Given the description of an element on the screen output the (x, y) to click on. 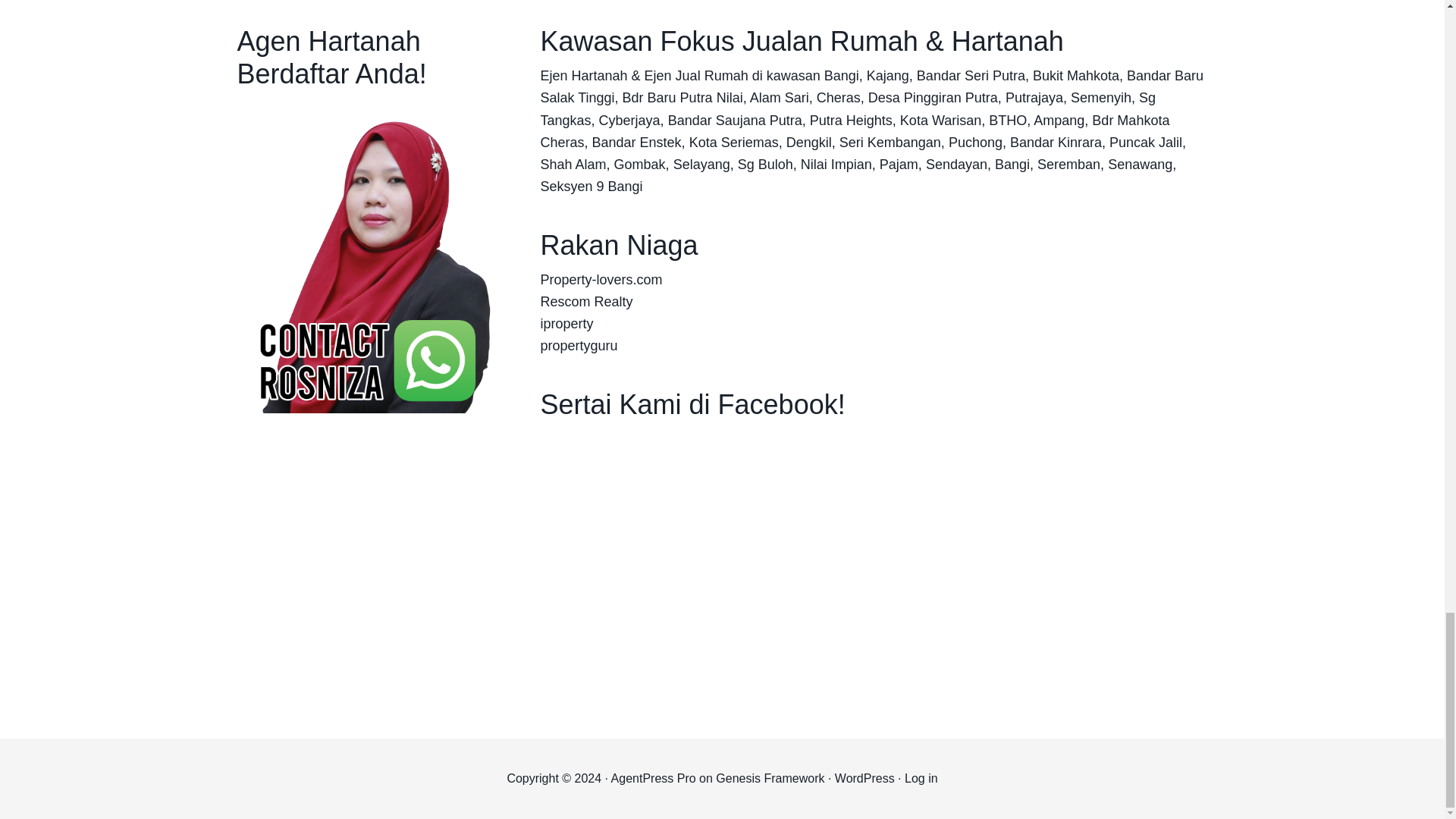
Click To Whatsapp (365, 255)
